Given the description of an element on the screen output the (x, y) to click on. 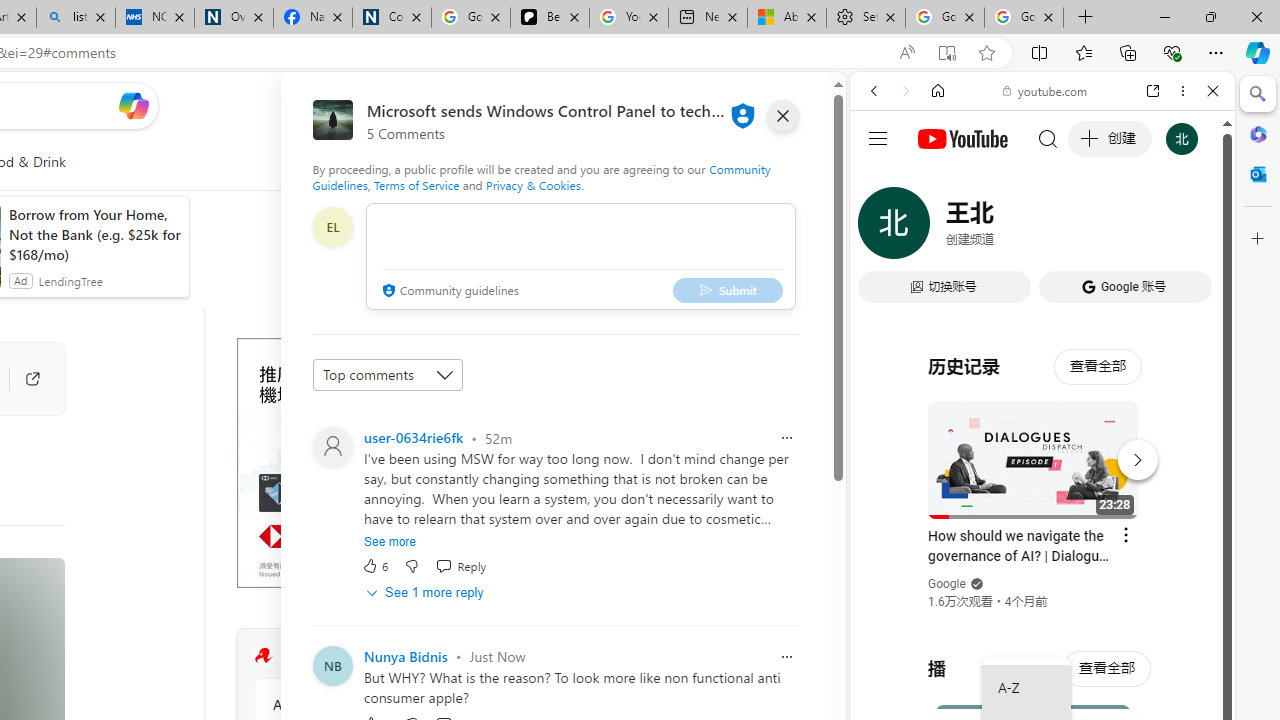
Google (947, 584)
Trailer #2 [HD] (1042, 594)
Community Guidelines (541, 176)
Forward (906, 91)
A-Z (1026, 688)
Profile Picture (333, 446)
Enter Immersive Reader (F9) (946, 53)
